Given the description of an element on the screen output the (x, y) to click on. 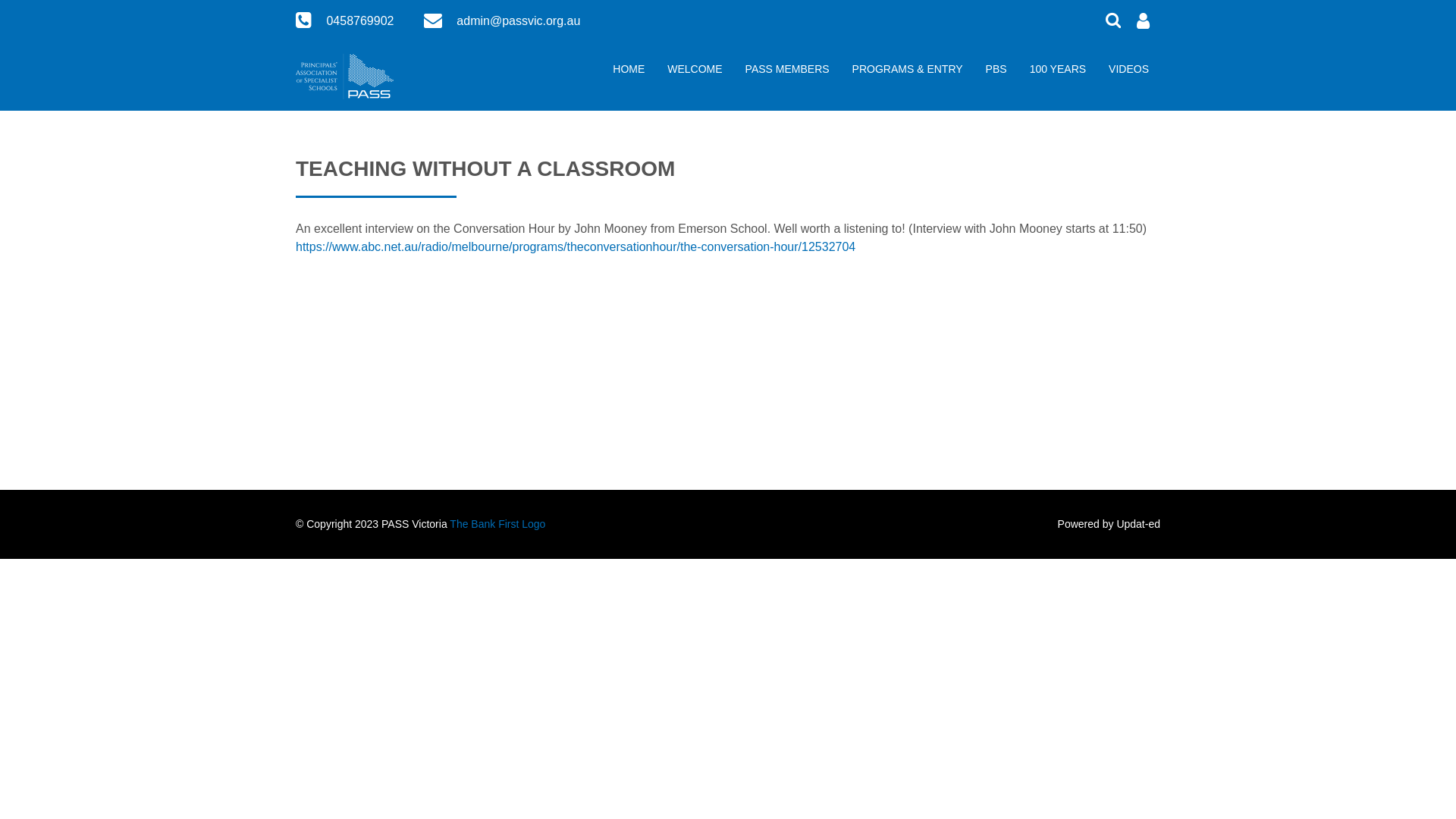
HOME Element type: text (628, 70)
PASS MEMBERS Element type: text (787, 70)
WELCOME Element type: text (694, 70)
100 YEARS Element type: text (1057, 70)
PBS Element type: text (996, 70)
Powered by Updat-ed Element type: text (1108, 523)
admin@passvic.org.au Element type: text (518, 20)
0458769902 Element type: text (359, 20)
PROGRAMS & ENTRY Element type: text (907, 70)
The Bank First Logo Element type: text (497, 523)
VIDEOS Element type: text (1128, 70)
